Given the description of an element on the screen output the (x, y) to click on. 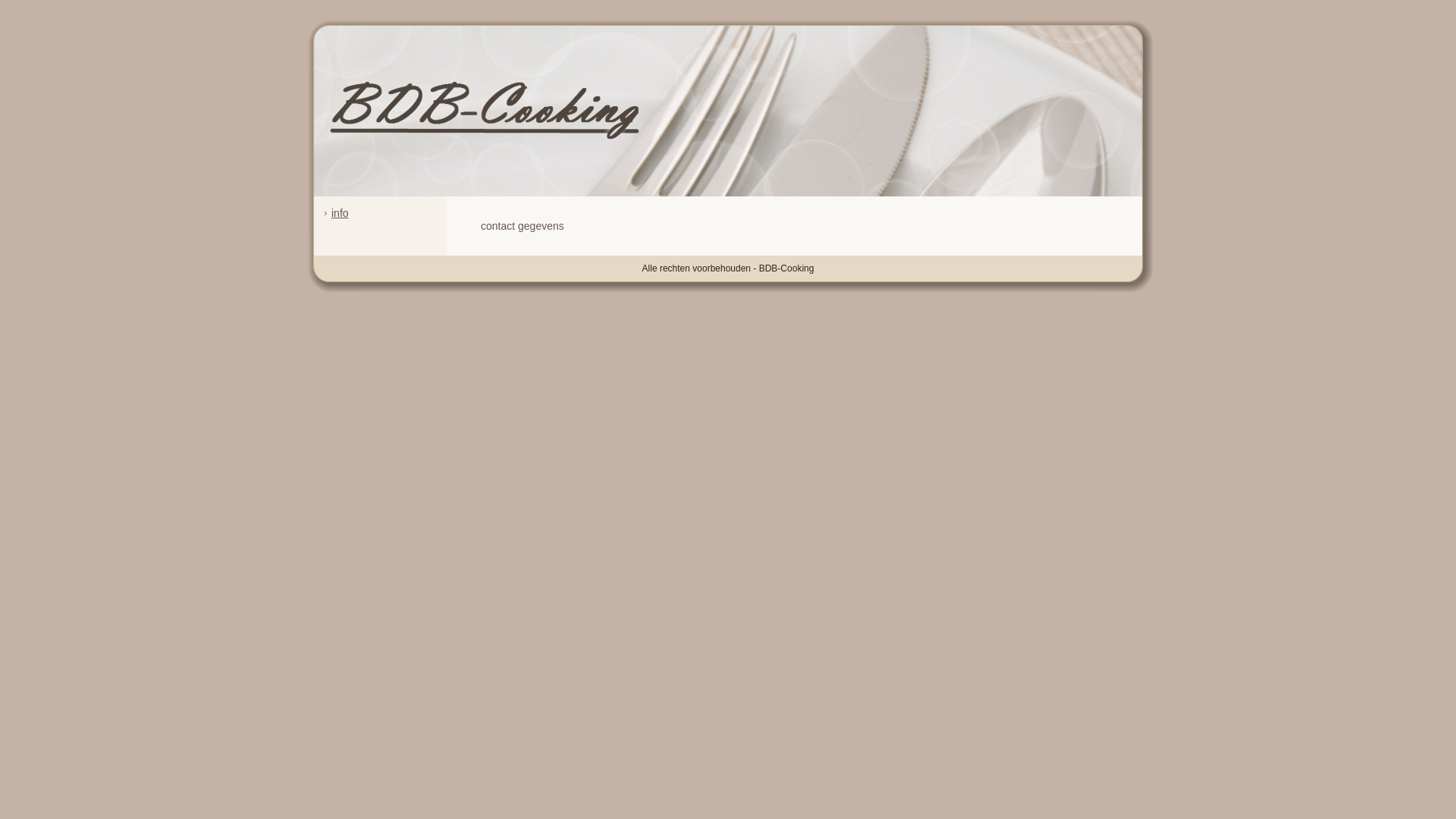
contact gegevens Element type: text (522, 225)
info Element type: text (339, 213)
